Given the description of an element on the screen output the (x, y) to click on. 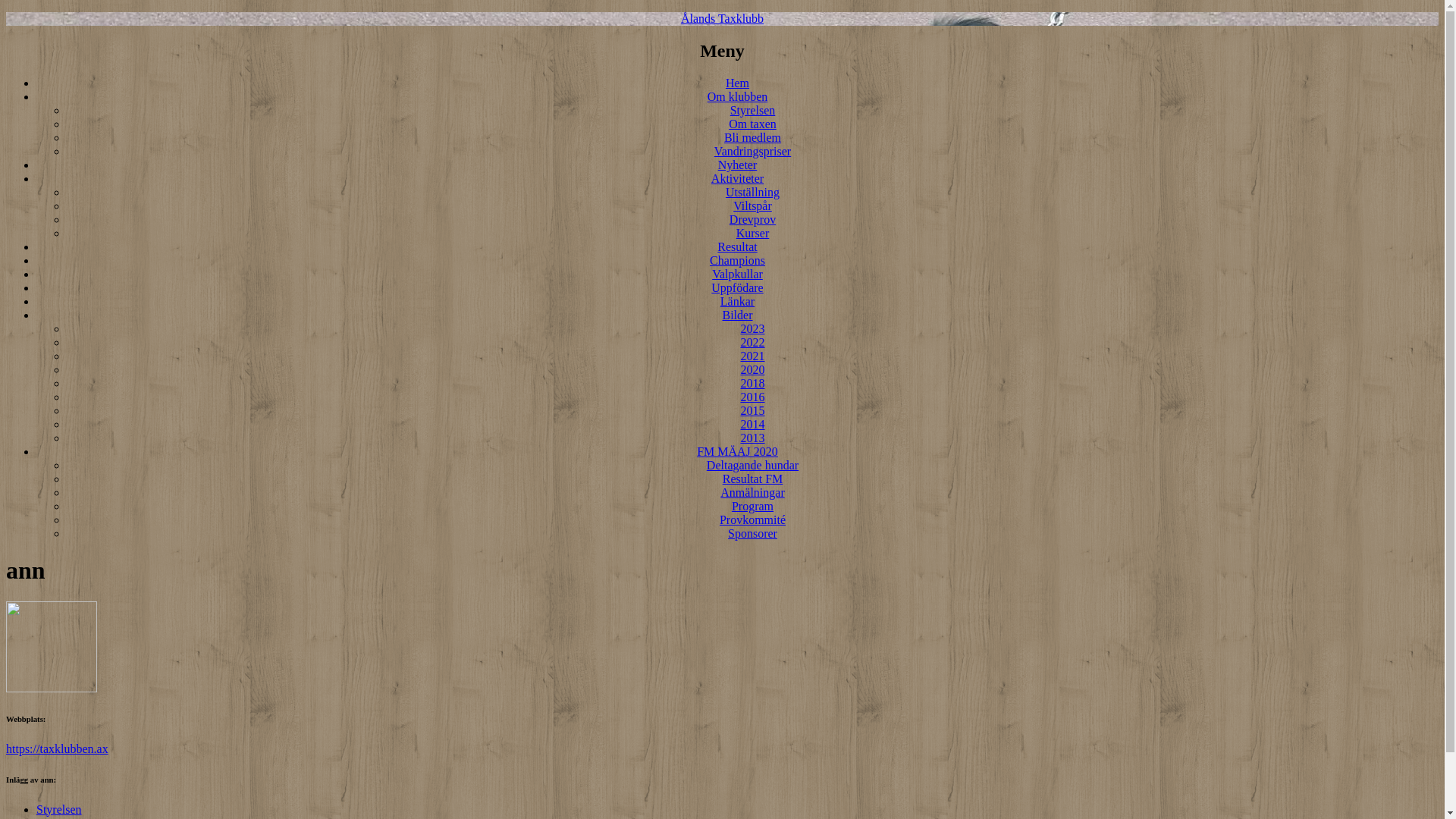
2018 Element type: text (752, 382)
2016 Element type: text (752, 396)
Aktiviteter Element type: text (737, 178)
Om taxen Element type: text (752, 123)
Styrelsen Element type: text (58, 809)
Resultat Element type: text (736, 246)
Hem Element type: text (737, 82)
Sponsorer Element type: text (752, 533)
Champions Element type: text (737, 260)
2014 Element type: text (752, 423)
Resultat FM Element type: text (752, 478)
2020 Element type: text (752, 369)
Vandringspriser Element type: text (752, 150)
Bilder Element type: text (736, 314)
Program Element type: text (752, 505)
https://taxklubben.ax Element type: text (57, 748)
2013 Element type: text (752, 437)
Valpkullar Element type: text (737, 273)
Bli medlem Element type: text (752, 137)
Nyheter Element type: text (737, 164)
2022 Element type: text (752, 341)
Deltagande hundar Element type: text (752, 464)
Kurser Element type: text (752, 232)
Drevprov Element type: text (752, 219)
Styrelsen Element type: text (752, 109)
2021 Element type: text (752, 355)
2023 Element type: text (752, 328)
Om klubben Element type: text (737, 96)
2015 Element type: text (752, 410)
